Given the description of an element on the screen output the (x, y) to click on. 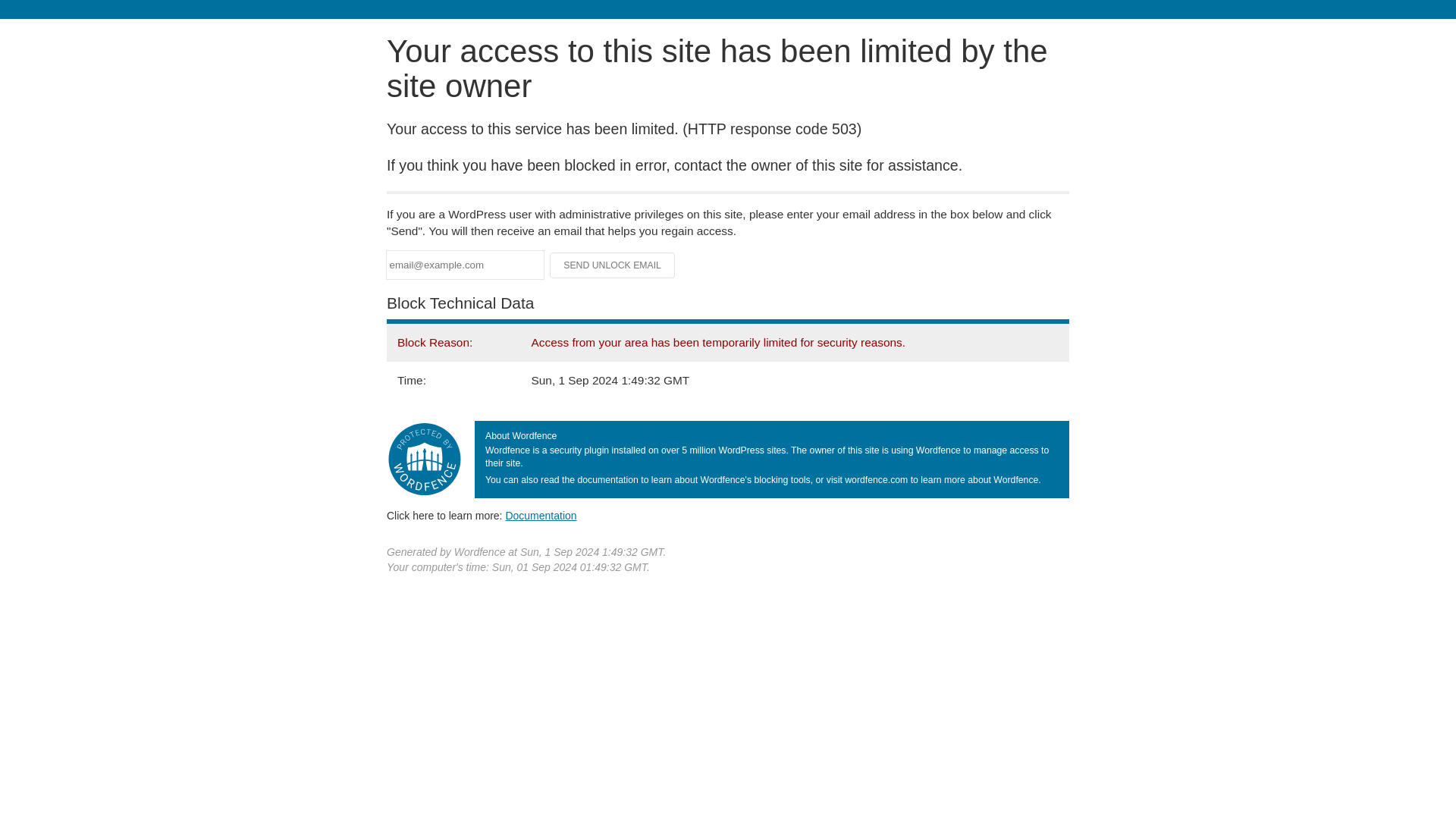
Send Unlock Email (612, 265)
Documentation (540, 515)
Send Unlock Email (612, 265)
